Given the description of an element on the screen output the (x, y) to click on. 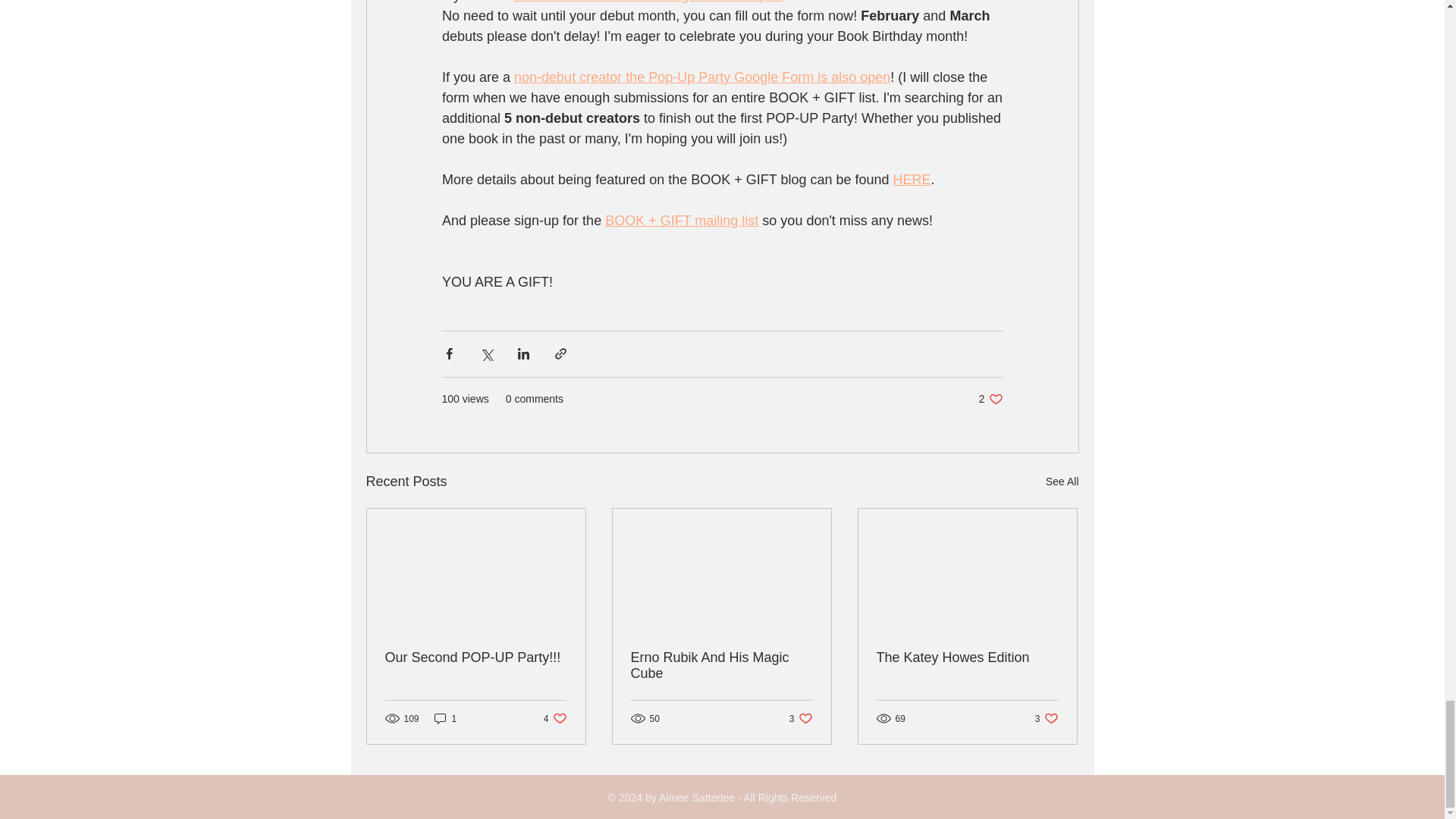
non-debut creator the Pop-Up Party Google Form is also open (701, 77)
HERE (911, 179)
2023 debut creator the Google Form is open (648, 1)
